Given the description of an element on the screen output the (x, y) to click on. 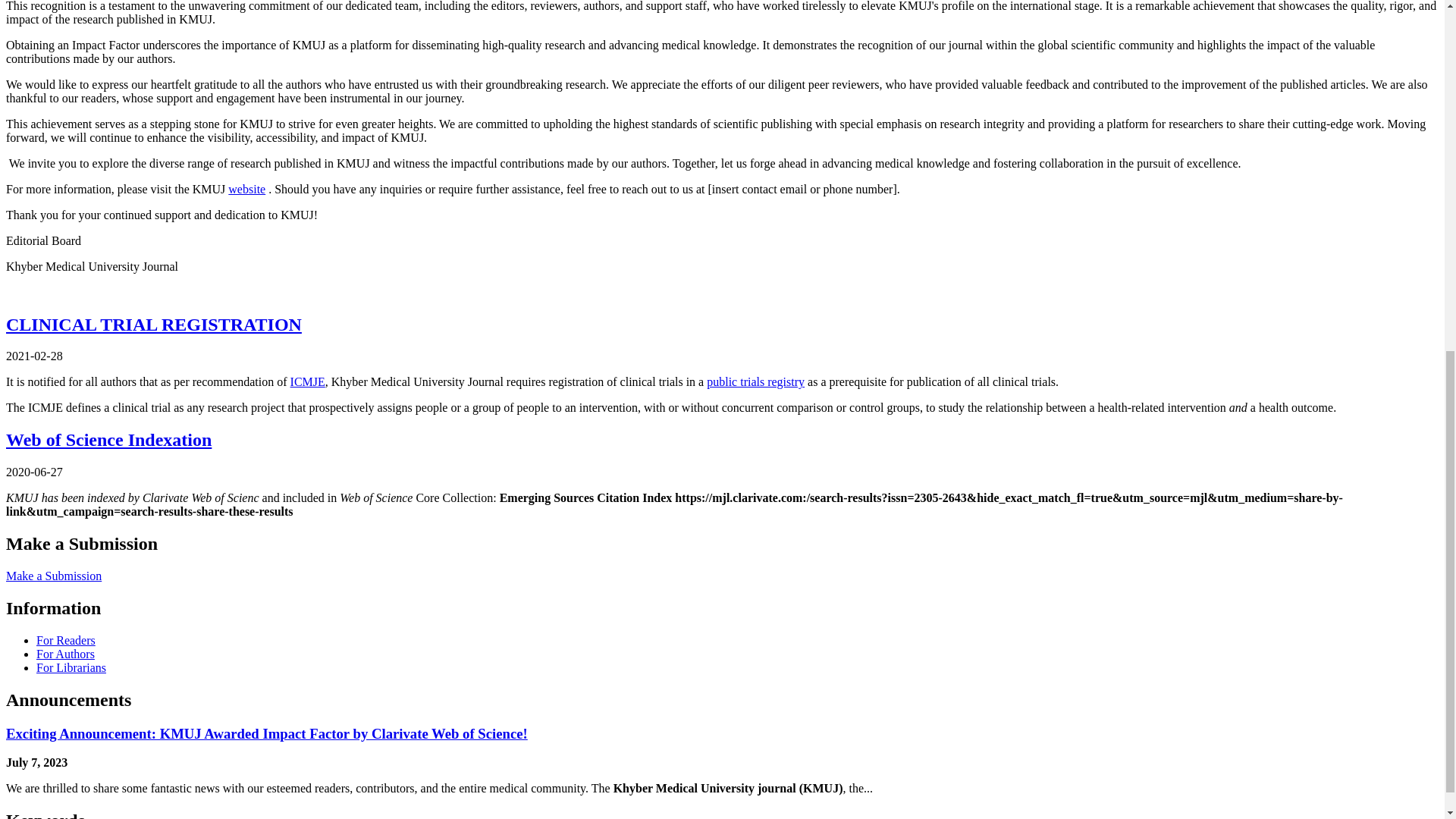
For Authors (65, 653)
Make a Submission (53, 575)
For Readers (66, 640)
public trials registry (755, 381)
ICMJE (306, 381)
CLINICAL TRIAL REGISTRATION (153, 324)
website (246, 188)
For Librarians (71, 667)
Web of Science Indexation (108, 439)
